Given the description of an element on the screen output the (x, y) to click on. 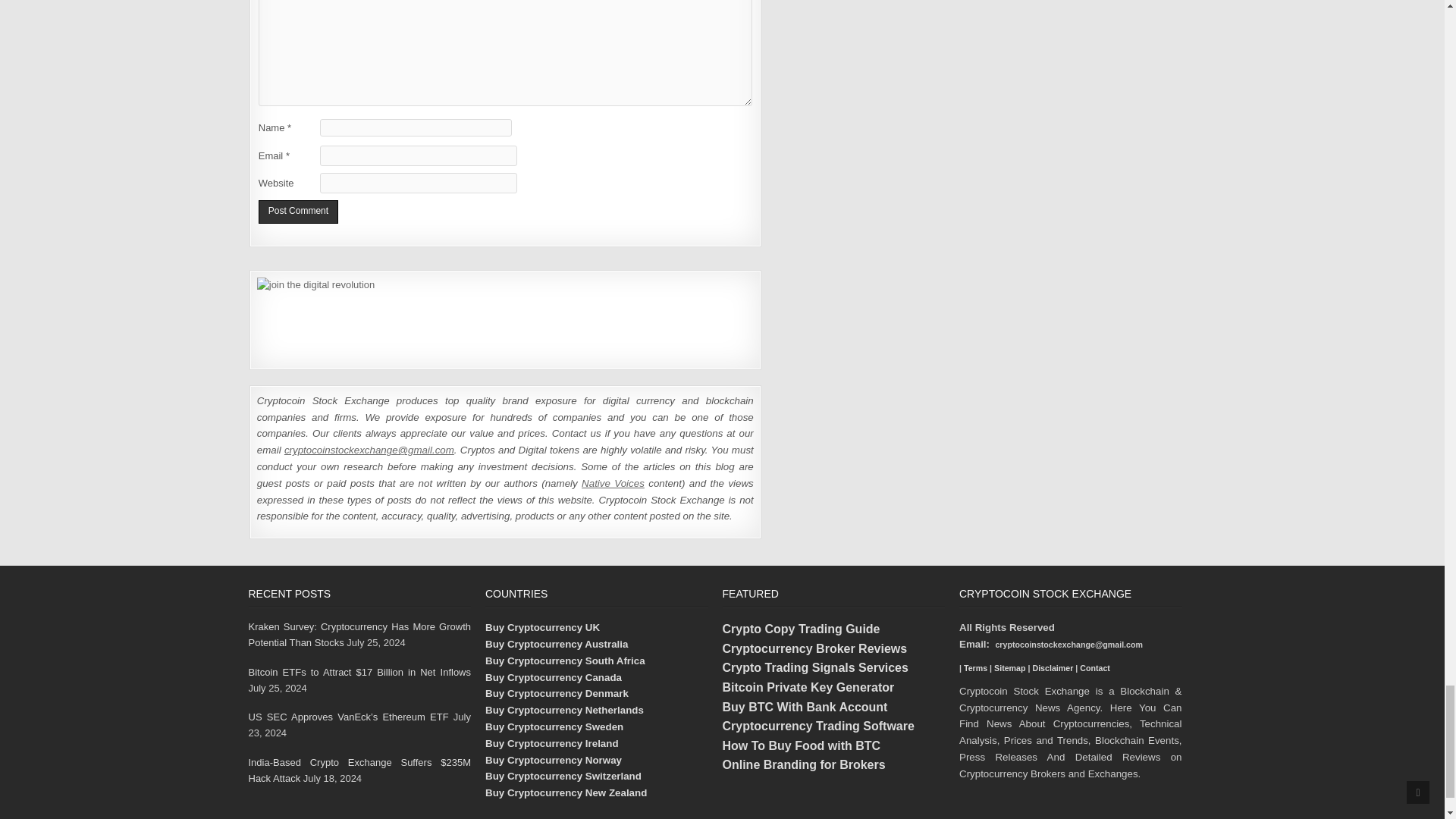
Post Comment (298, 211)
